Given the description of an element on the screen output the (x, y) to click on. 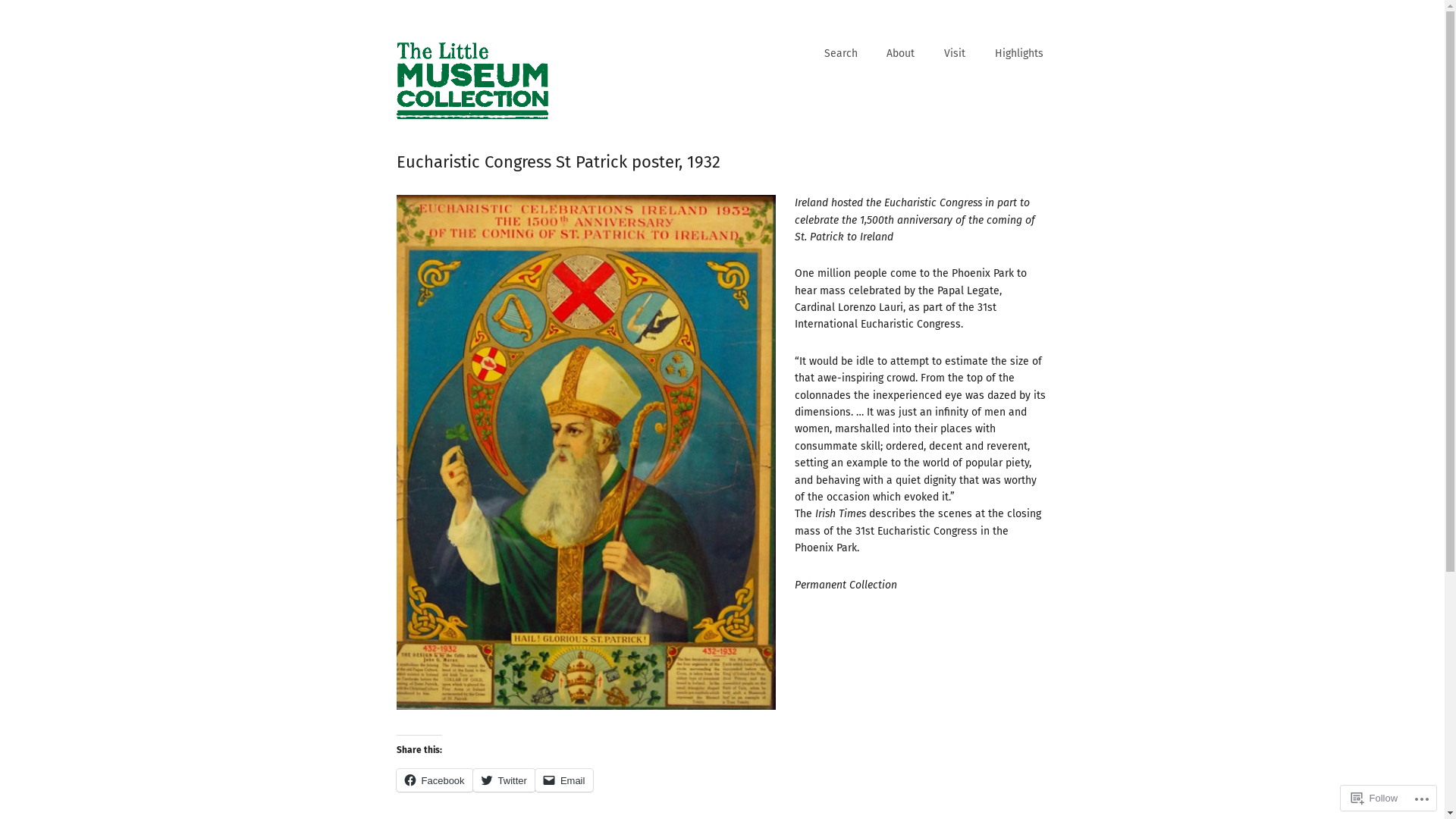
Follow Element type: text (1374, 797)
Search Element type: text (840, 53)
Visit Element type: text (954, 53)
Twitter Element type: text (504, 779)
Highlights Element type: text (1018, 53)
Facebook Element type: text (433, 779)
About Element type: text (900, 53)
Email Element type: text (564, 779)
Home Element type: hover (471, 80)
Eucharistic Congress poster, 1932 Element type: hover (585, 451)
